Given the description of an element on the screen output the (x, y) to click on. 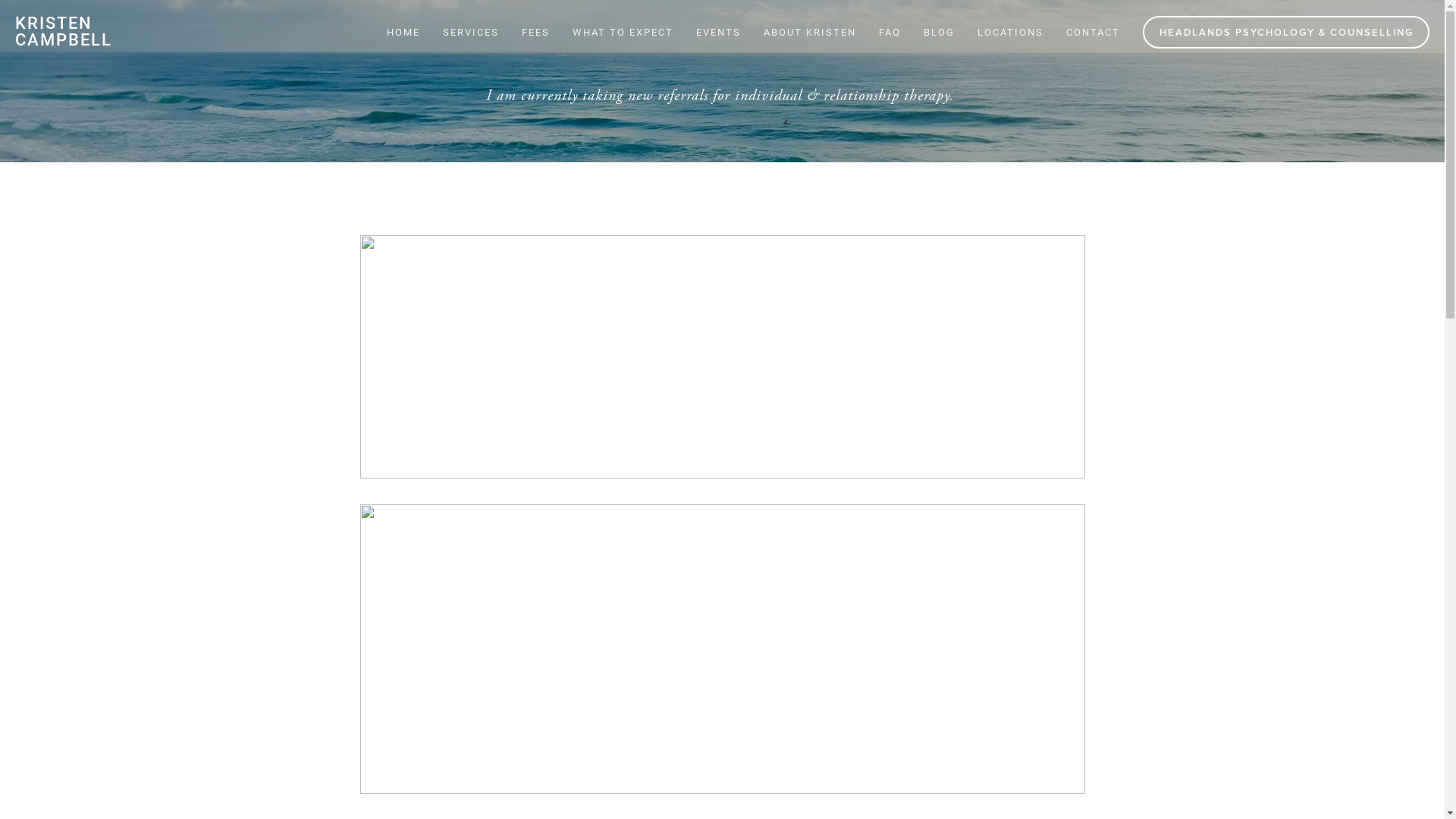
HEADLANDS PSYCHOLOGY & COUNSELLING Element type: text (1285, 31)
CONTACT Element type: text (1092, 31)
WHAT TO EXPECT Element type: text (622, 31)
BLOG Element type: text (938, 31)
FAQ Element type: text (889, 31)
LOCATIONS Element type: text (1010, 31)
HOME Element type: text (402, 31)
FEES Element type: text (535, 31)
ABOUT KRISTEN Element type: text (809, 31)
EVENTS Element type: text (718, 31)
KRISTEN CAMPBELL Element type: text (63, 31)
